Given the description of an element on the screen output the (x, y) to click on. 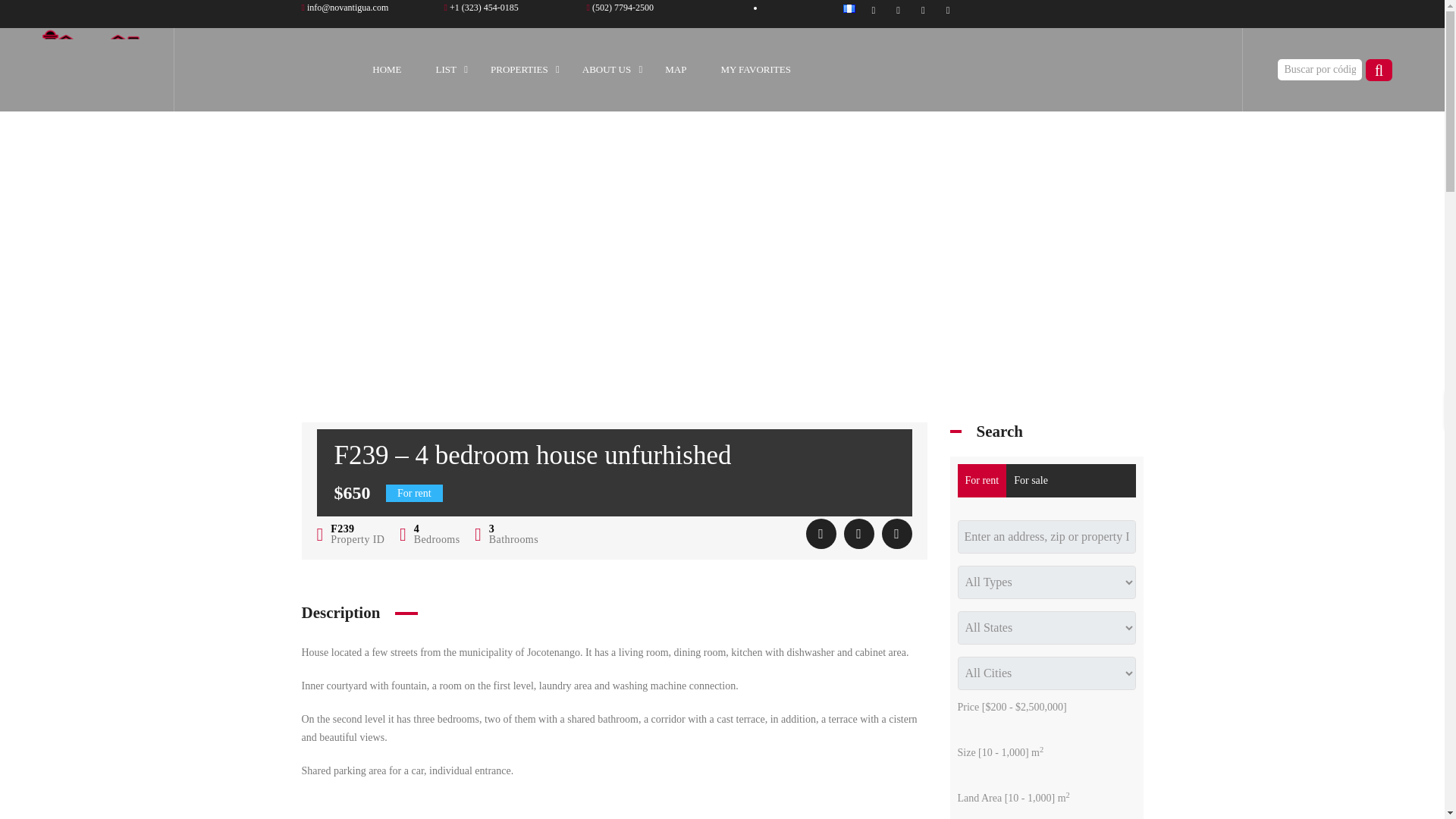
Submit Property (619, 7)
Compare (858, 533)
Add to Favorite (820, 533)
Submit Property (481, 7)
